Given the description of an element on the screen output the (x, y) to click on. 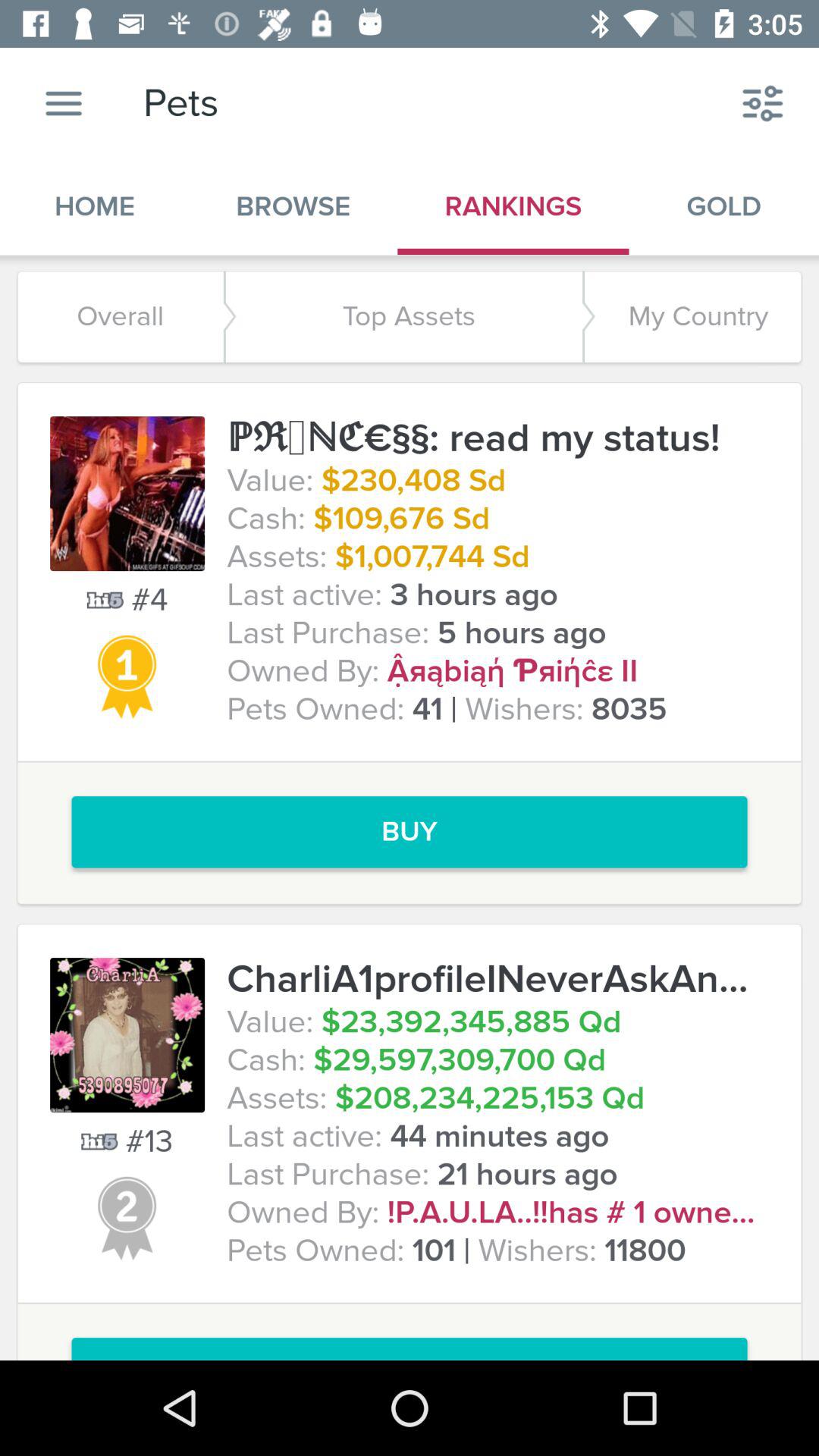
press the item above the home icon (63, 103)
